Given the description of an element on the screen output the (x, y) to click on. 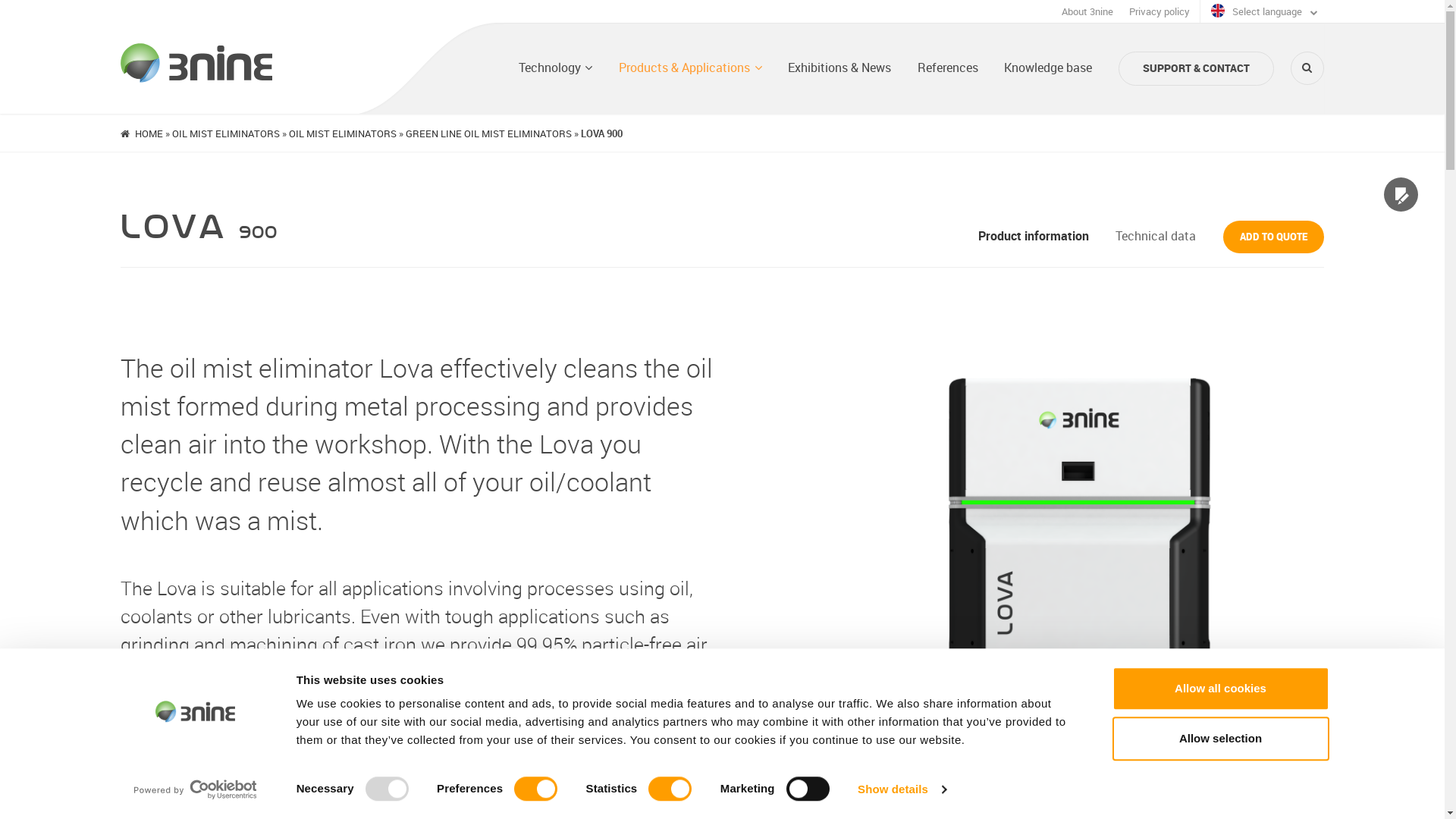
References Element type: text (947, 67)
OIL MIST ELIMINATORS Element type: text (342, 132)
Privacy policy Element type: text (1159, 11)
Oil mist eliminator Lova Element type: hover (1072, 772)
SUPPORT & CONTACT Element type: text (1196, 68)
About 3nine Element type: text (1087, 11)
GREEN LINE OIL MIST ELIMINATORS Element type: text (488, 132)
HOME Element type: text (148, 132)
Allow all cookies Element type: text (1219, 688)
Technology Element type: text (570, 672)
3nine Element type: text (196, 62)
Products & Applications Element type: text (690, 67)
Show details Element type: text (901, 789)
OIL MIST ELIMINATORS Element type: text (225, 132)
Exhibitions & News Element type: text (839, 67)
Technical data Element type: text (1155, 235)
Technology Element type: text (555, 67)
oil mist separator Lova Element type: hover (1073, 772)
Product information Element type: text (1033, 235)
Allow selection Element type: text (1219, 738)
Add to quote Element type: text (1273, 236)
Knowledge base Element type: text (1048, 67)
Select language Element type: text (1264, 11)
